Given the description of an element on the screen output the (x, y) to click on. 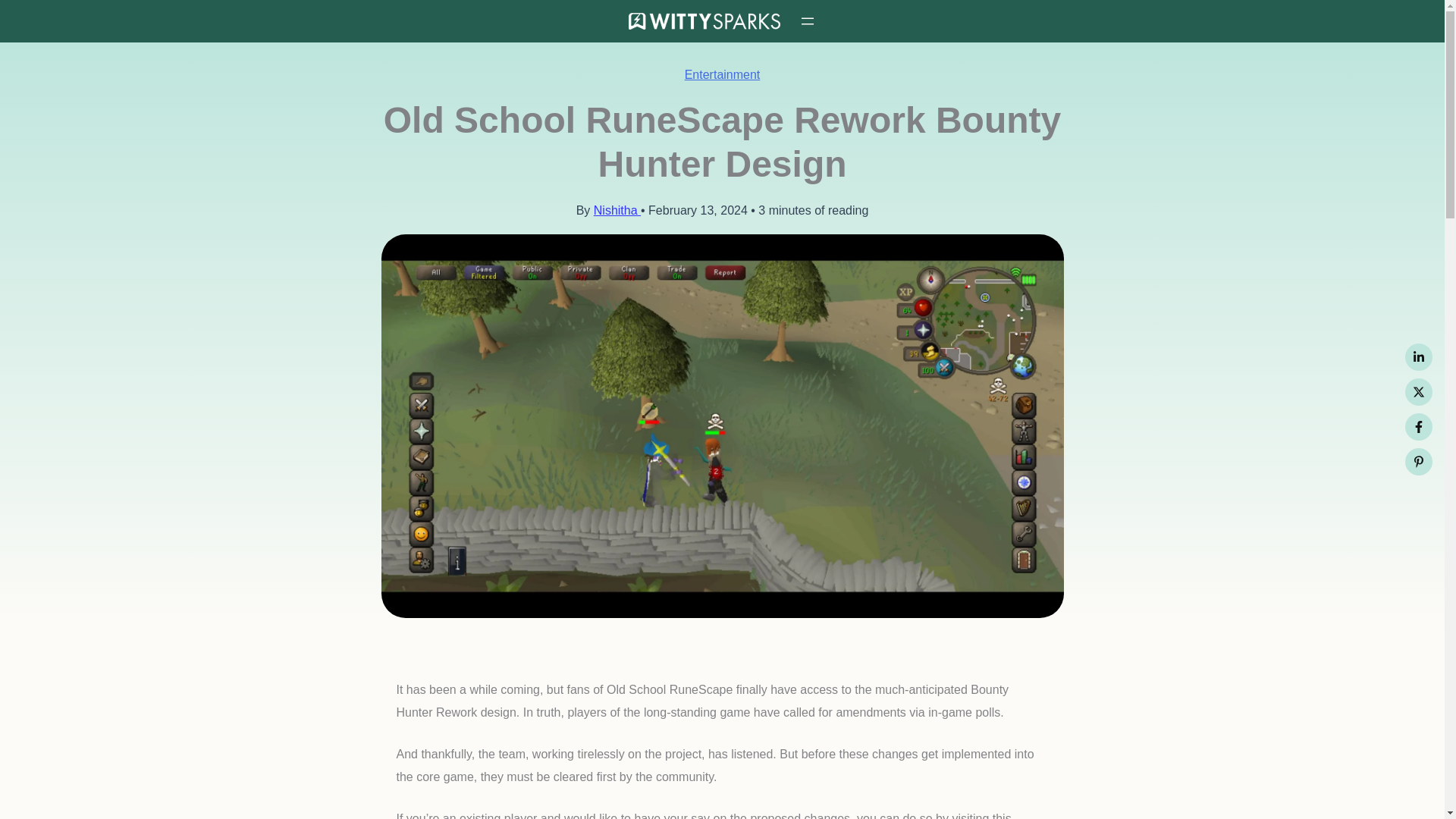
Entertainment (722, 74)
Nishitha (617, 210)
View all posts by Nishitha (617, 210)
